Given the description of an element on the screen output the (x, y) to click on. 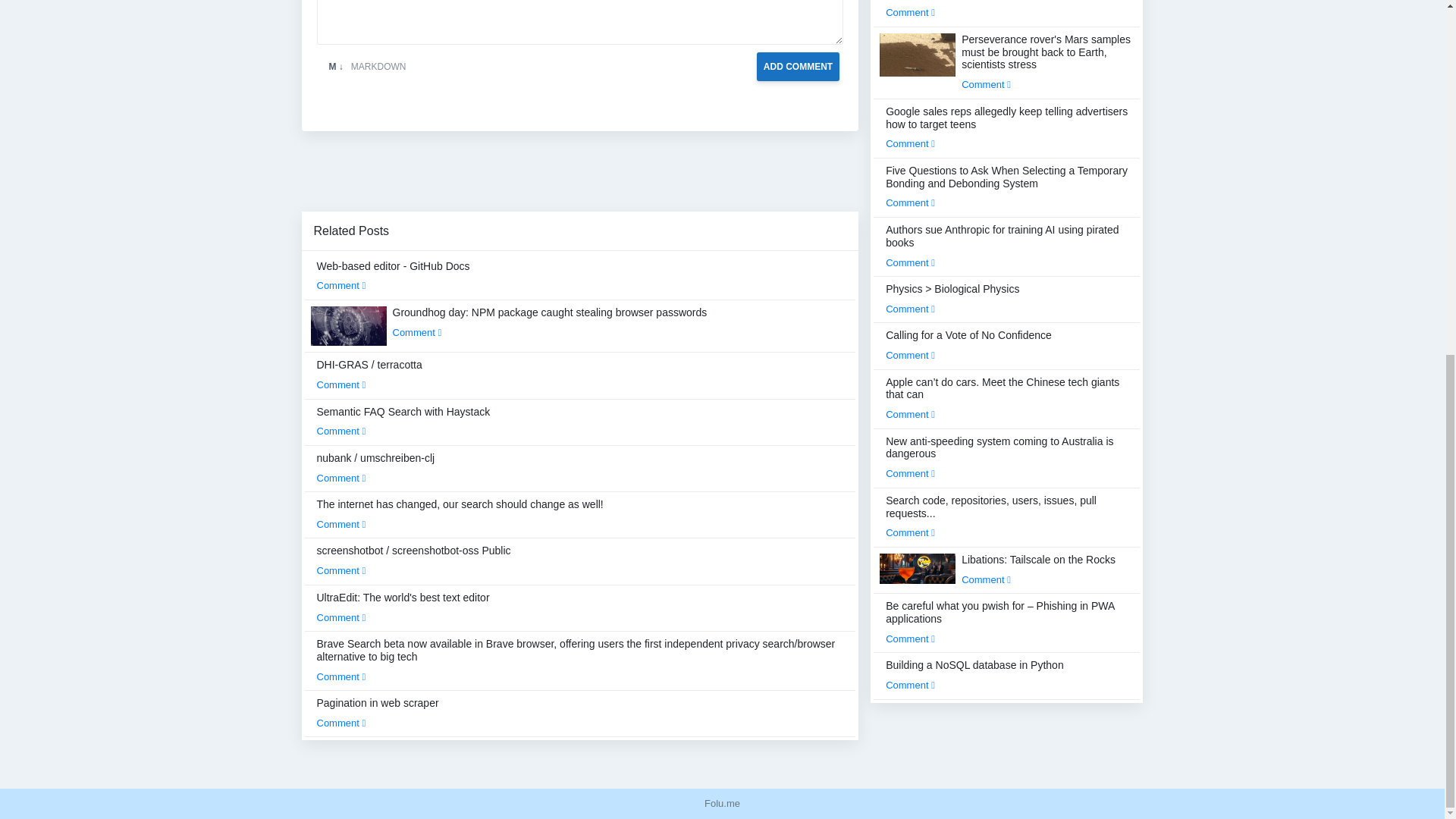
ADD COMMENT (798, 65)
UltraEdit: The world's best text editor (403, 607)
Comment (341, 570)
The internet has changed, our search should change as well! (460, 513)
Comment (341, 384)
Web-based editor - GitHub Docs (393, 275)
Groundhog day: NPM package caught stealing browser passwords (550, 322)
Comment (341, 478)
Semantic FAQ Search with Haystack (403, 421)
Comment (417, 332)
